Given the description of an element on the screen output the (x, y) to click on. 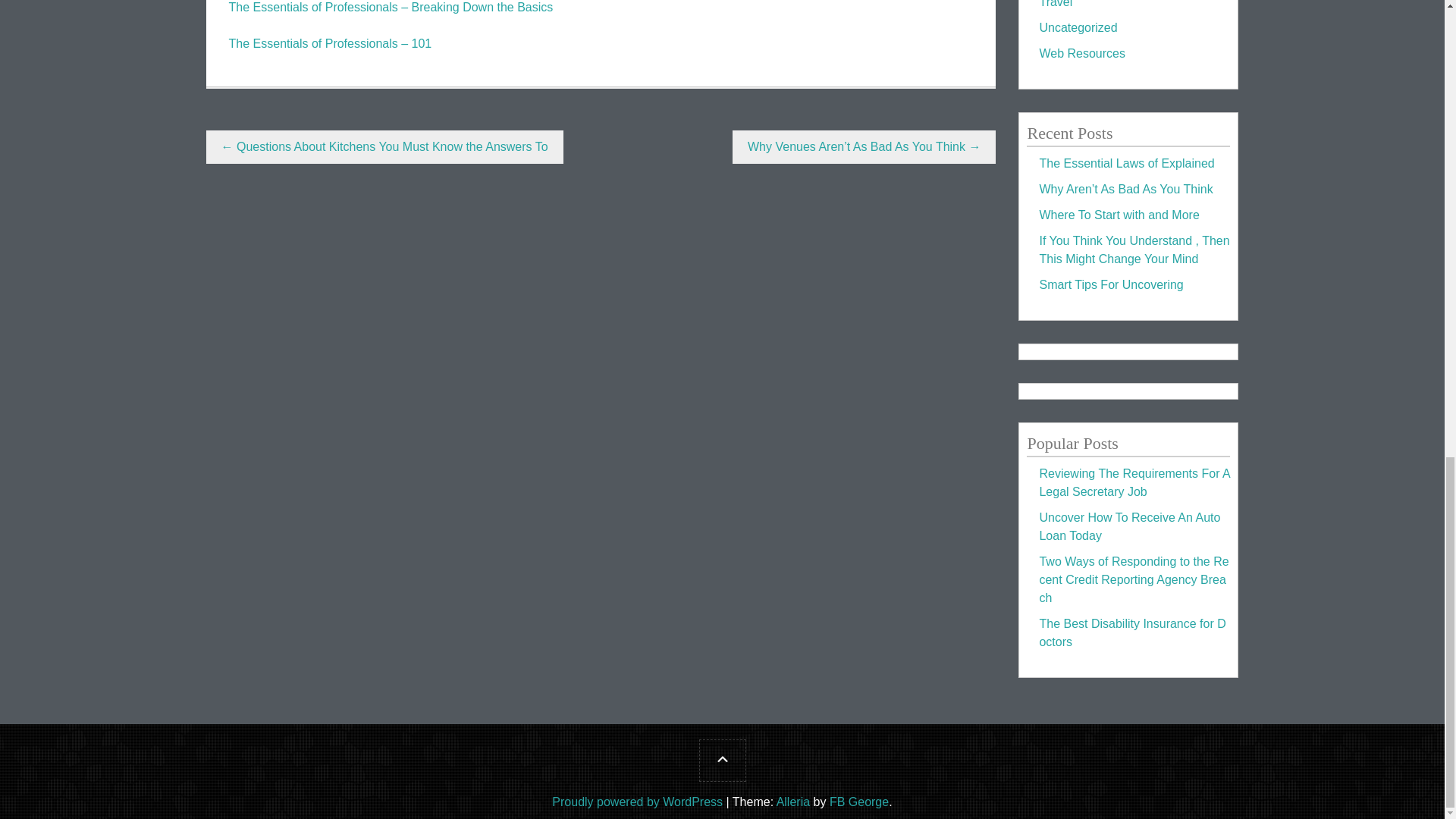
Travel (1055, 4)
Uncategorized (1077, 27)
The Best Disability Insurance for Doctors (1132, 632)
Uncover How To Receive An Auto Loan Today (1129, 526)
Web Resources (1082, 52)
Reviewing The Requirements For A Legal Secretary Job (1133, 481)
